Given the description of an element on the screen output the (x, y) to click on. 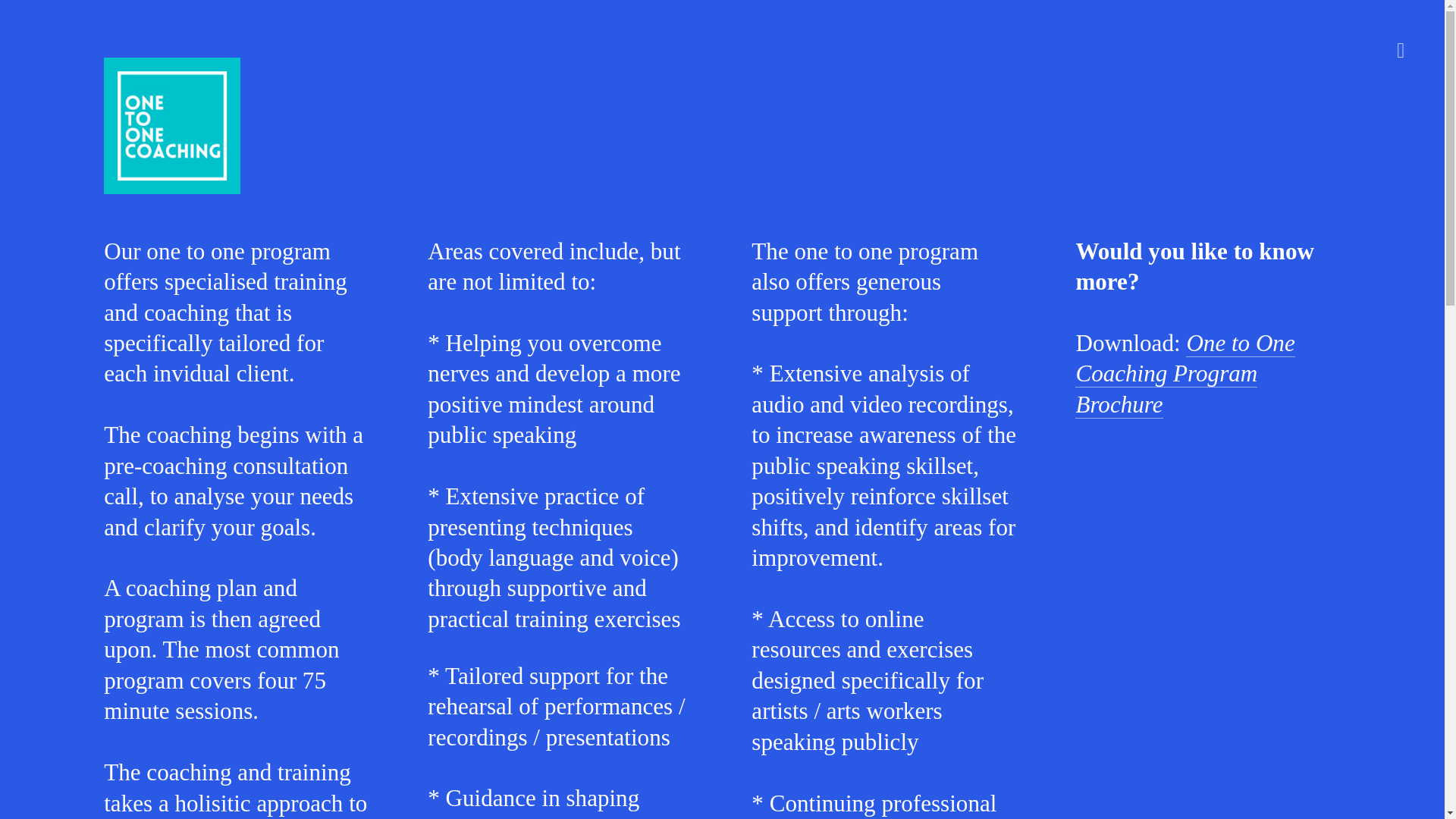
One to One Coaching Program Brochure (1184, 374)
